Given the description of an element on the screen output the (x, y) to click on. 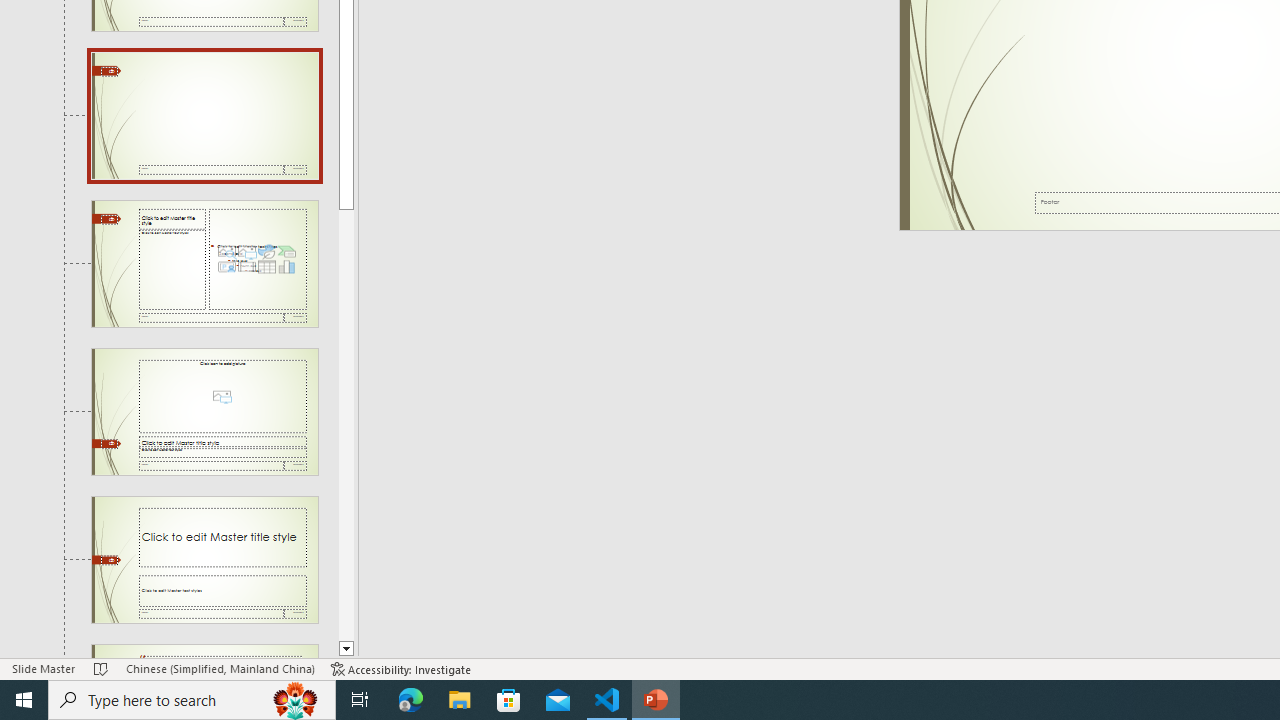
Slide Title and Caption Layout: used by no slides (204, 559)
Slide Content with Caption Layout: used by no slides (204, 263)
Slide Blank Layout: used by no slides (204, 116)
Slide Picture with Caption Layout: used by no slides (204, 412)
Slide Quote with Caption Layout: used by no slides (204, 651)
